Given the description of an element on the screen output the (x, y) to click on. 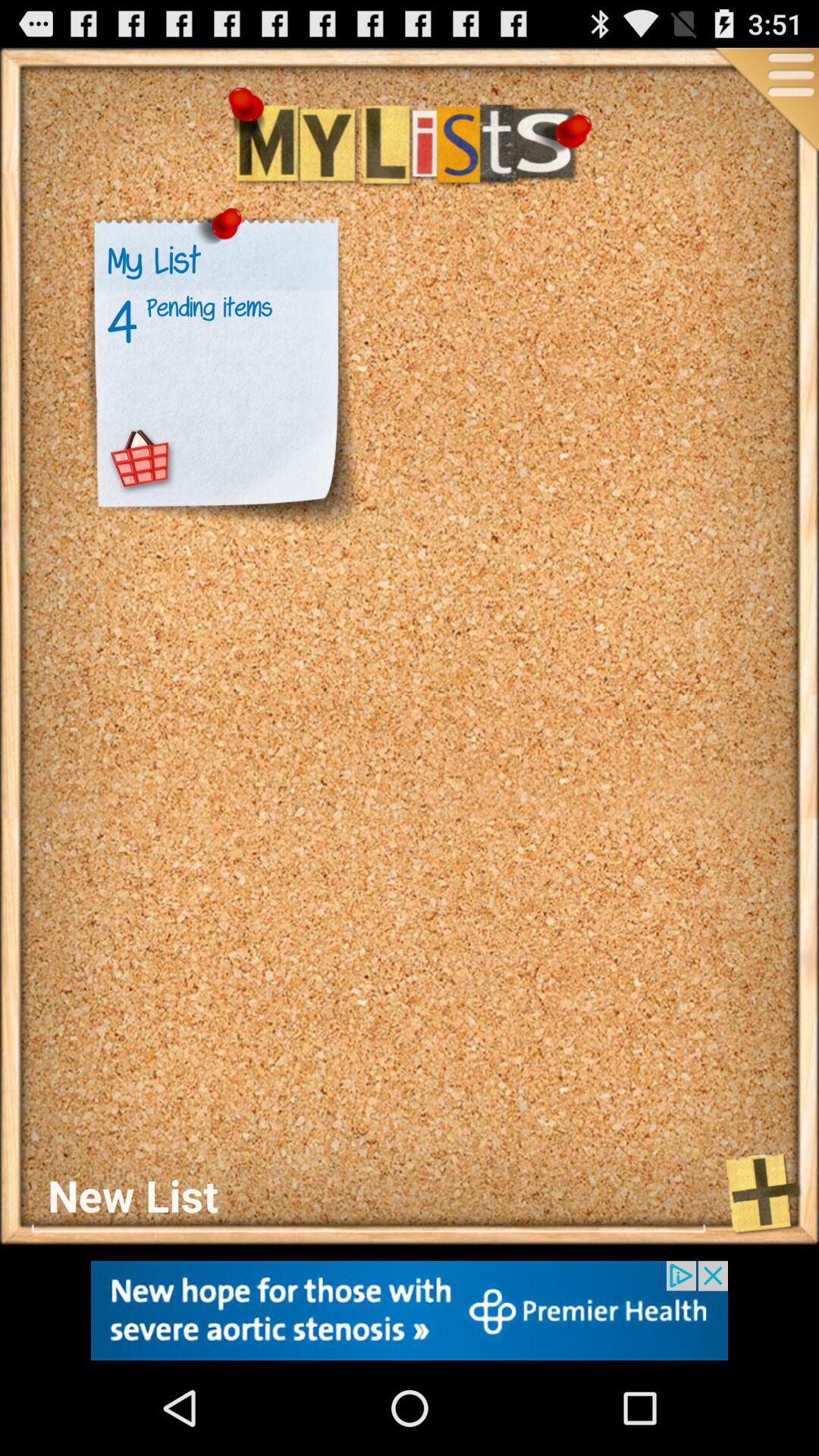
new hope for those with severe aortic stenosis (409, 1310)
